Given the description of an element on the screen output the (x, y) to click on. 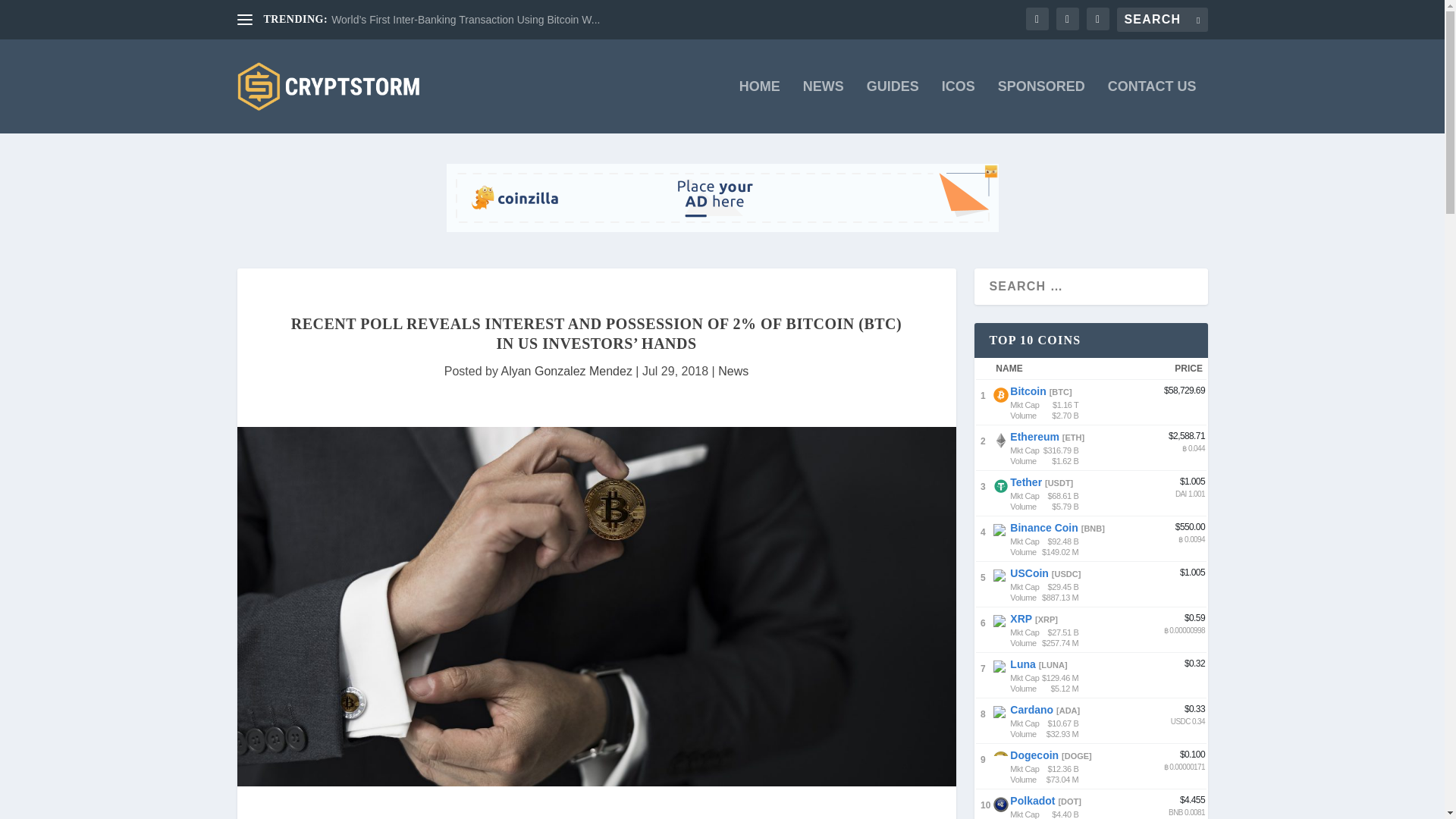
Alyan Gonzalez Mendez (565, 370)
Search for: (1161, 19)
GUIDES (892, 106)
Posts by Alyan Gonzalez Mendez (565, 370)
SPONSORED (1040, 106)
CONTACT US (1152, 106)
News (732, 370)
